Given the description of an element on the screen output the (x, y) to click on. 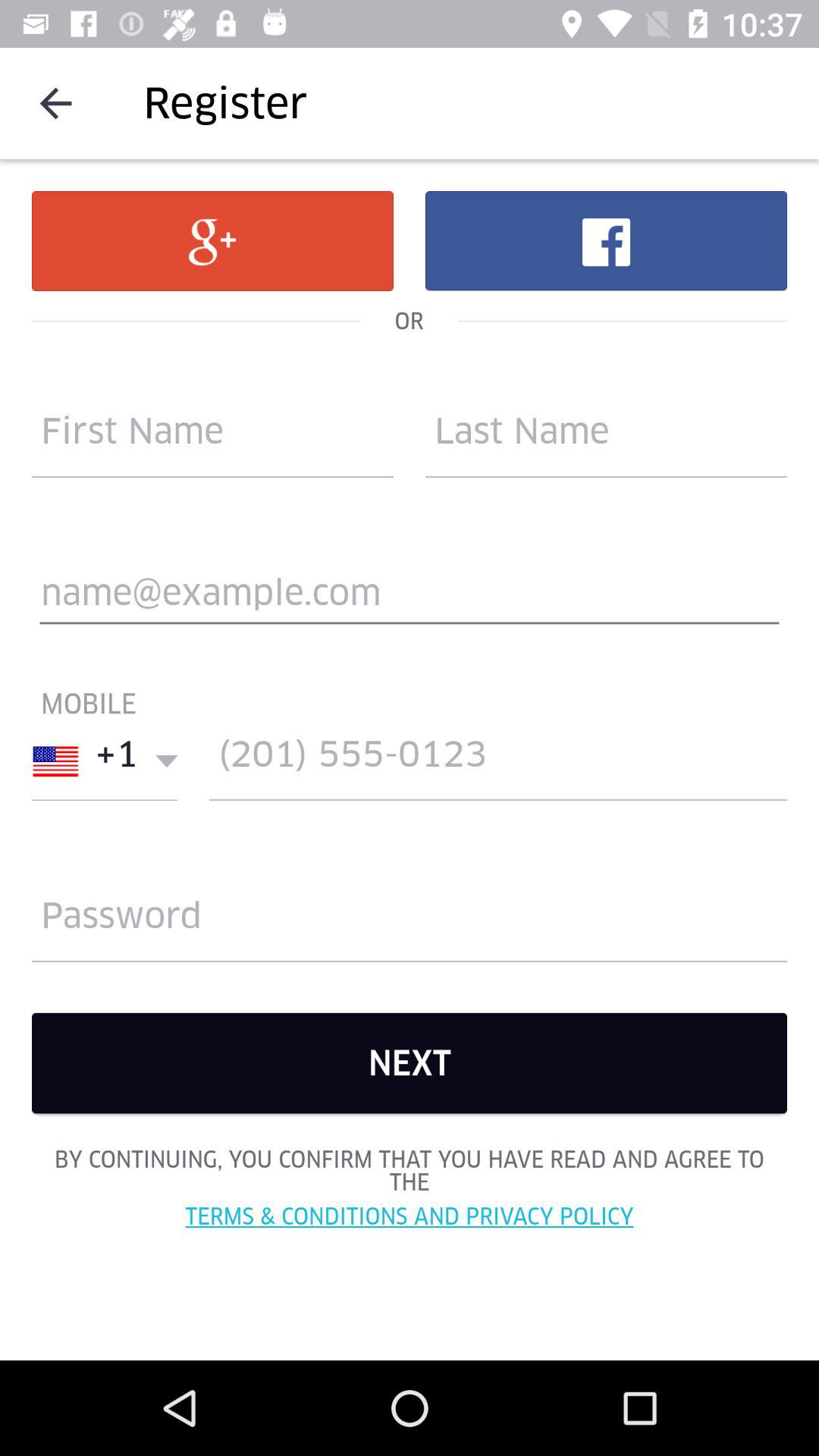
input last name (606, 438)
